Given the description of an element on the screen output the (x, y) to click on. 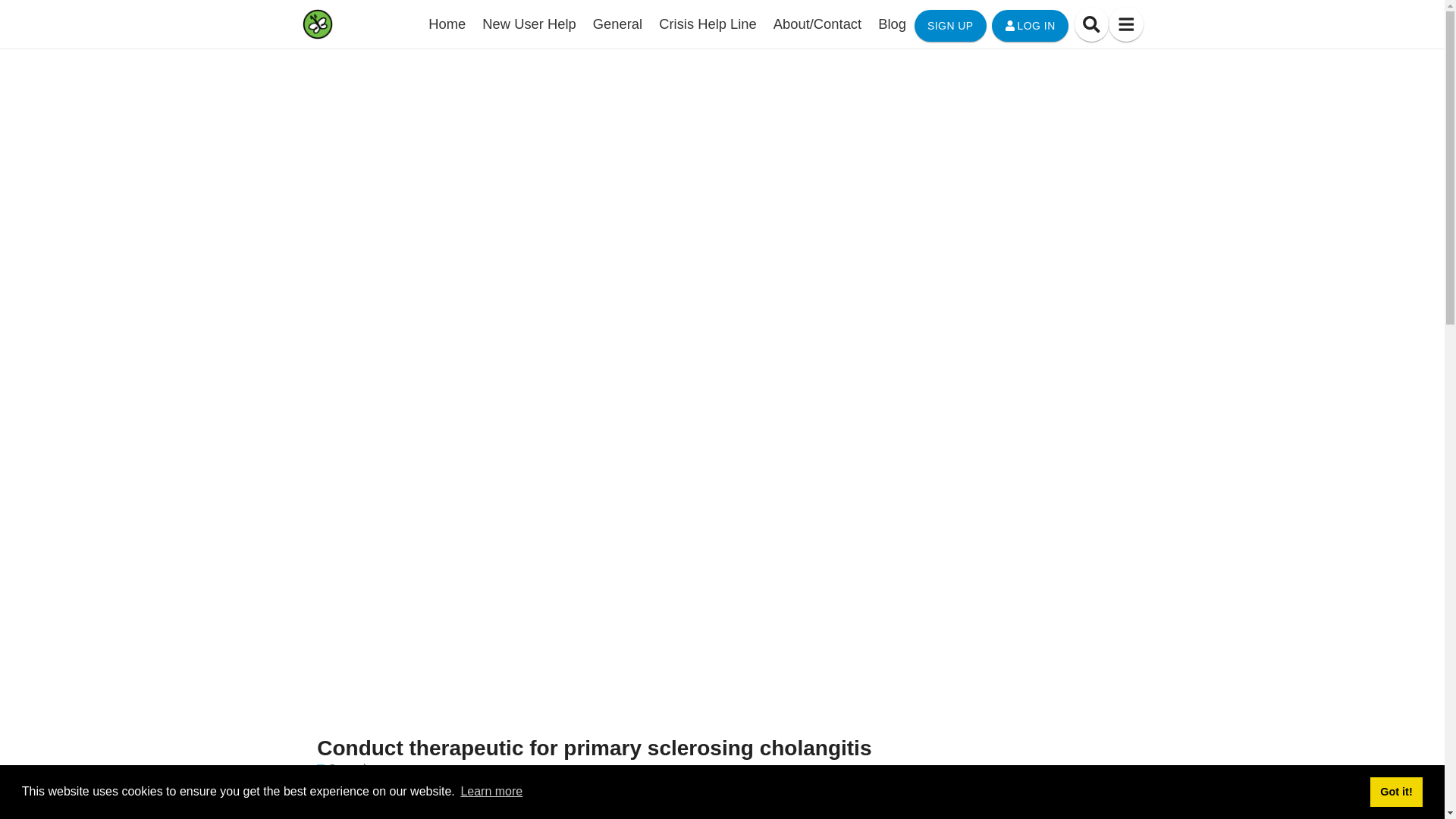
Blog (891, 23)
LOG IN (1029, 25)
Got it! (1396, 791)
General (341, 768)
Home (447, 23)
New User Help (528, 23)
Learn more (491, 791)
Search (1091, 23)
Post date (887, 816)
Home (447, 23)
